Given the description of an element on the screen output the (x, y) to click on. 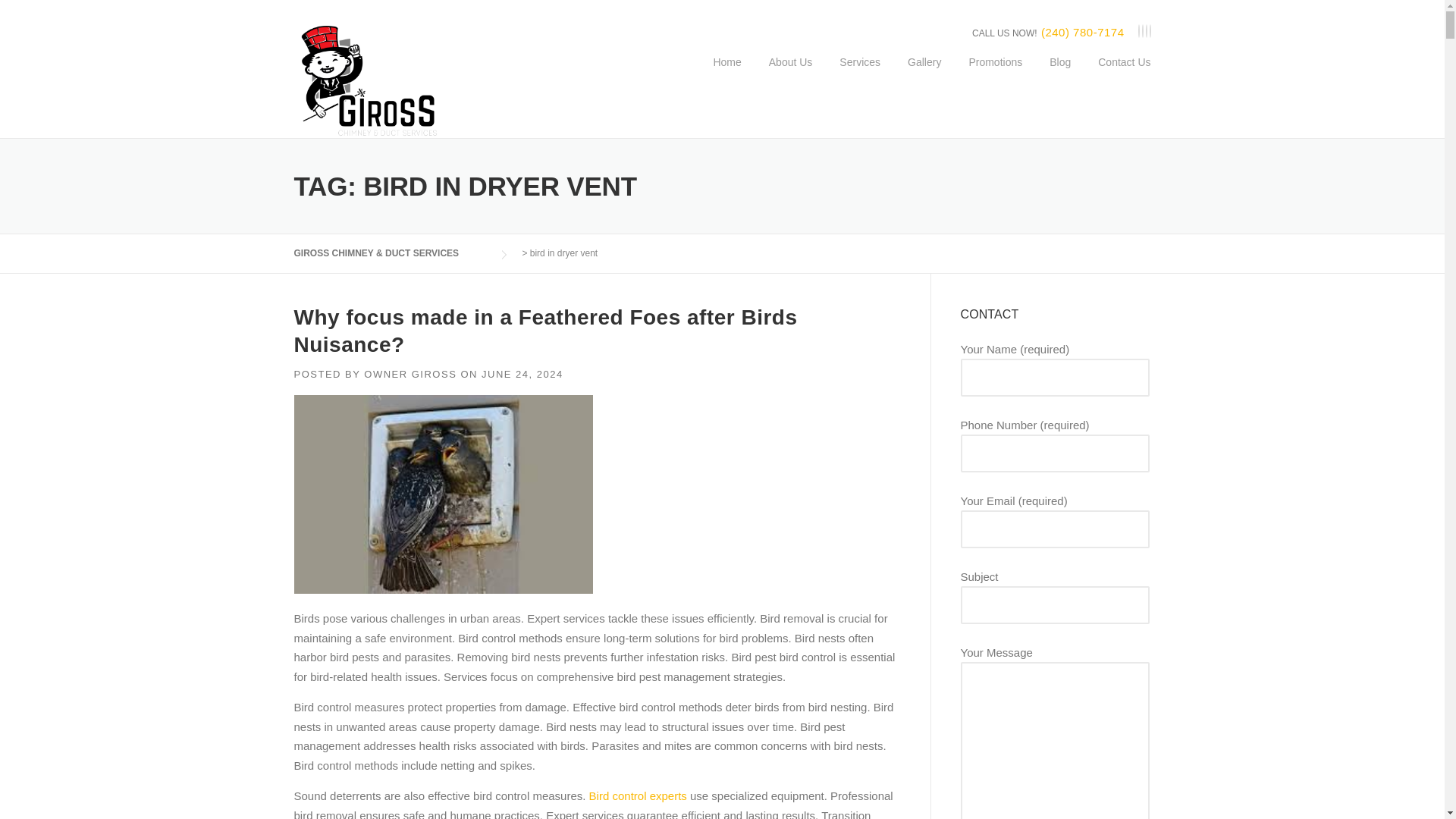
Promotions (995, 73)
OWNER GIROSS (410, 374)
Home (726, 73)
Gallery (924, 73)
JUNE 24, 2024 (522, 374)
Bird control experts (635, 795)
Why focus made in a Feathered Foes after Birds Nuisance? (545, 330)
Blog (1059, 73)
About Us (791, 73)
Contact Us (1117, 73)
Services (859, 73)
